Given the description of an element on the screen output the (x, y) to click on. 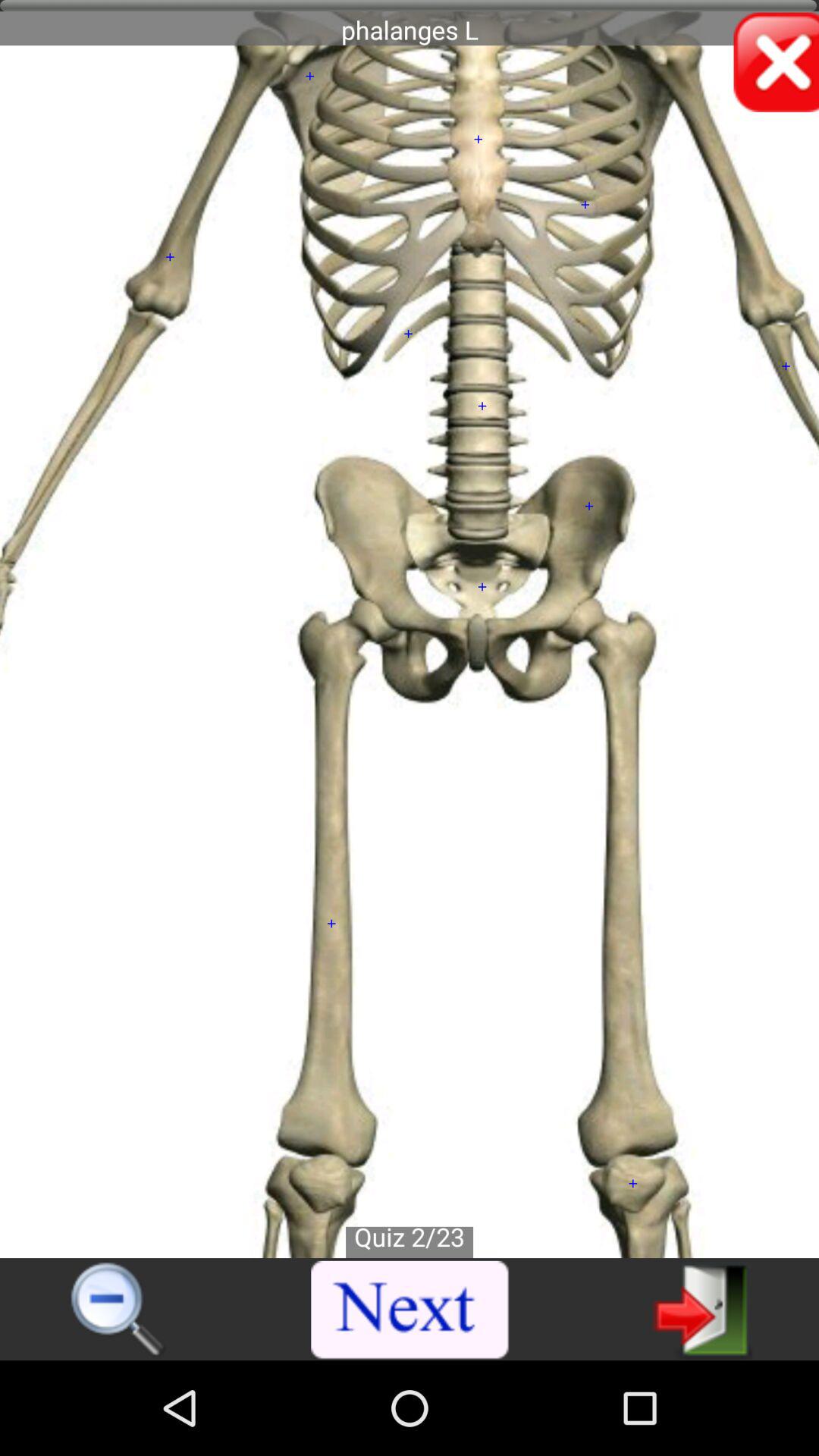
exit this (702, 1309)
